Given the description of an element on the screen output the (x, y) to click on. 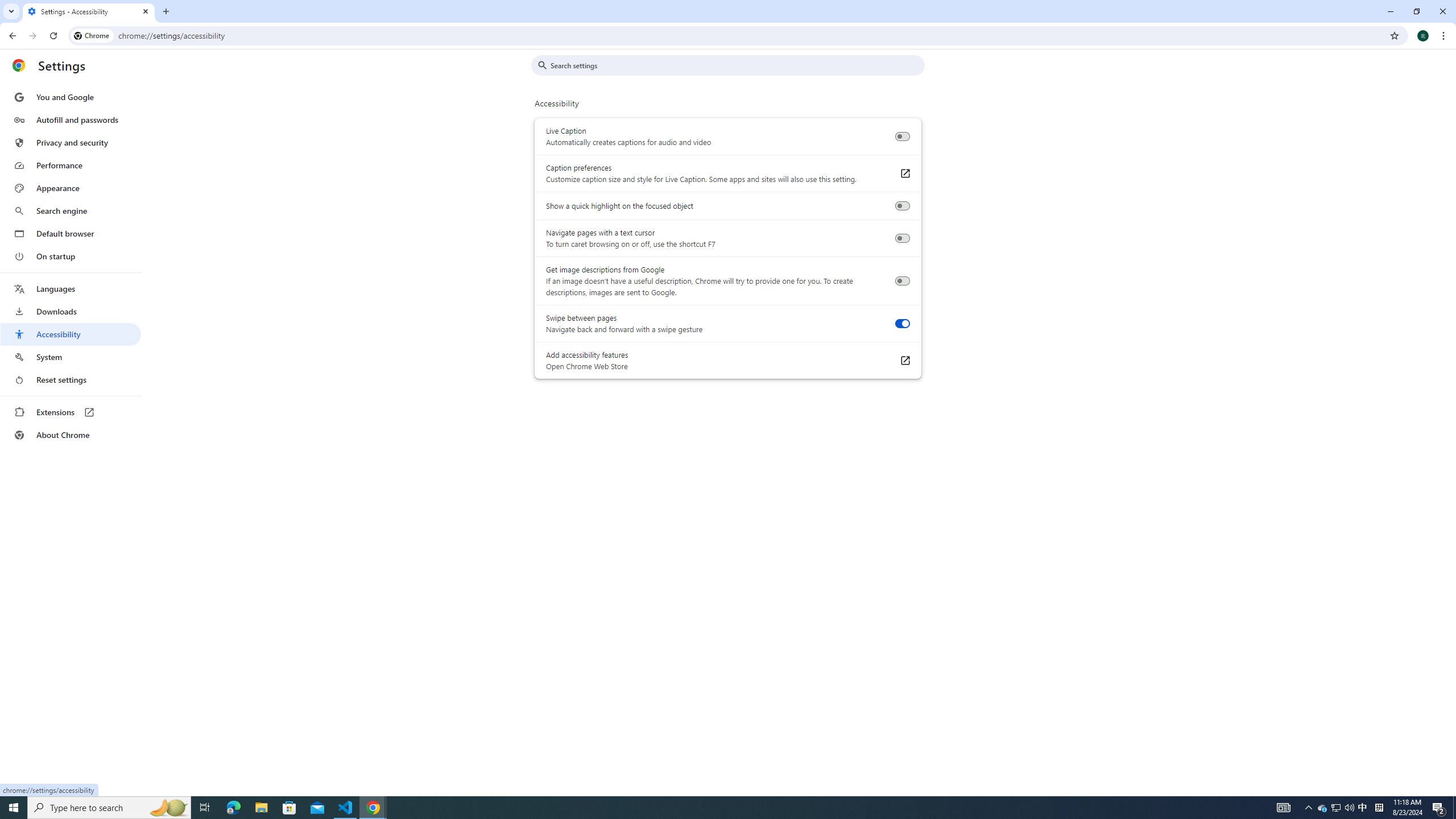
You and Google (70, 96)
Autofill and passwords (70, 119)
Languages (70, 288)
AutomationID: menu (71, 265)
Search engine (70, 210)
Settings - Accessibility (88, 11)
Navigate pages with a text cursor (901, 238)
Downloads (70, 311)
Live Caption (901, 136)
Performance (70, 164)
